Given the description of an element on the screen output the (x, y) to click on. 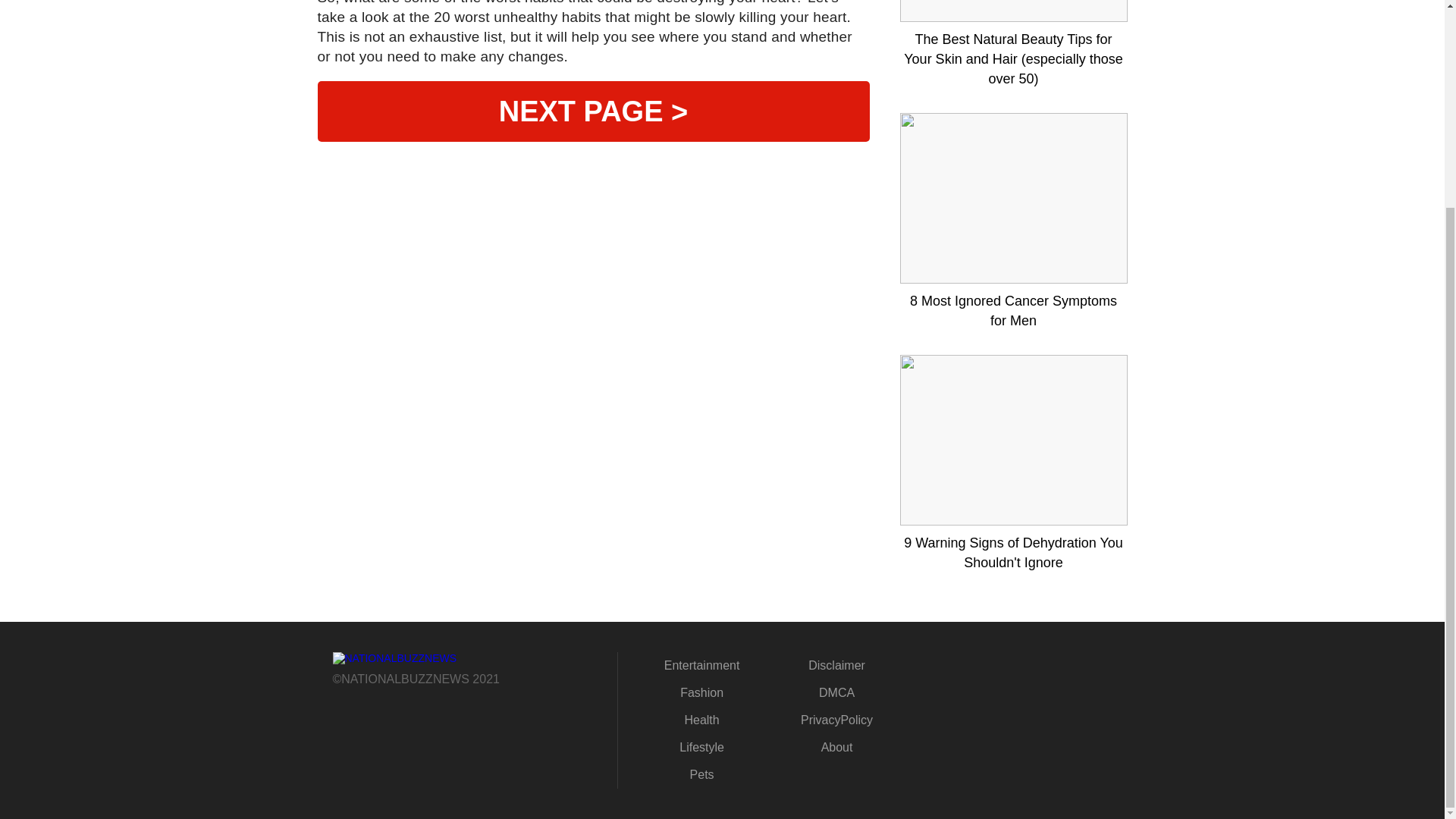
DMCA (836, 692)
8 Most Ignored Cancer Symptoms for Men (1012, 310)
Health (701, 719)
Entertainment (701, 665)
Lifestyle (701, 747)
About (837, 747)
Pets (702, 774)
Disclaimer (836, 665)
Fashion (701, 692)
PrivacyPolicy (836, 719)
